Given the description of an element on the screen output the (x, y) to click on. 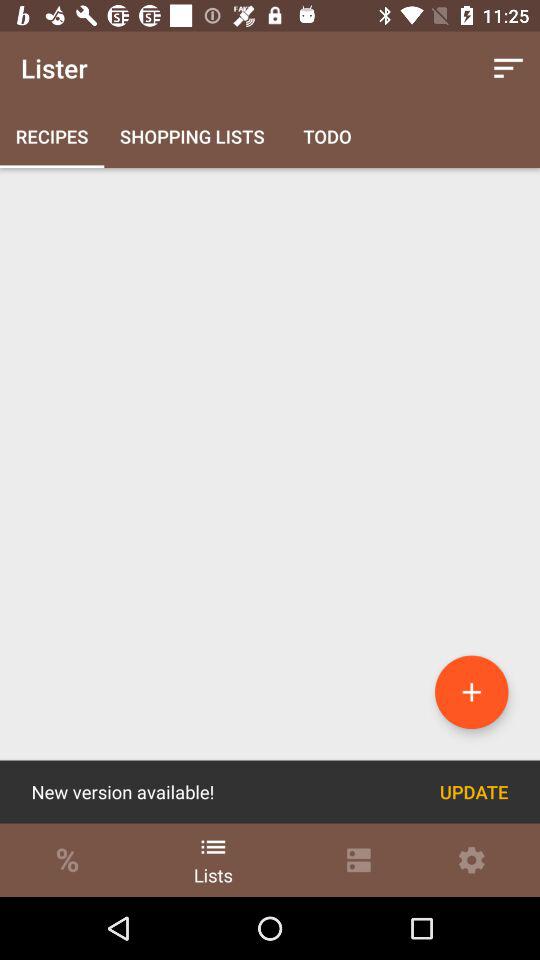
launch the item above the update (471, 691)
